Given the description of an element on the screen output the (x, y) to click on. 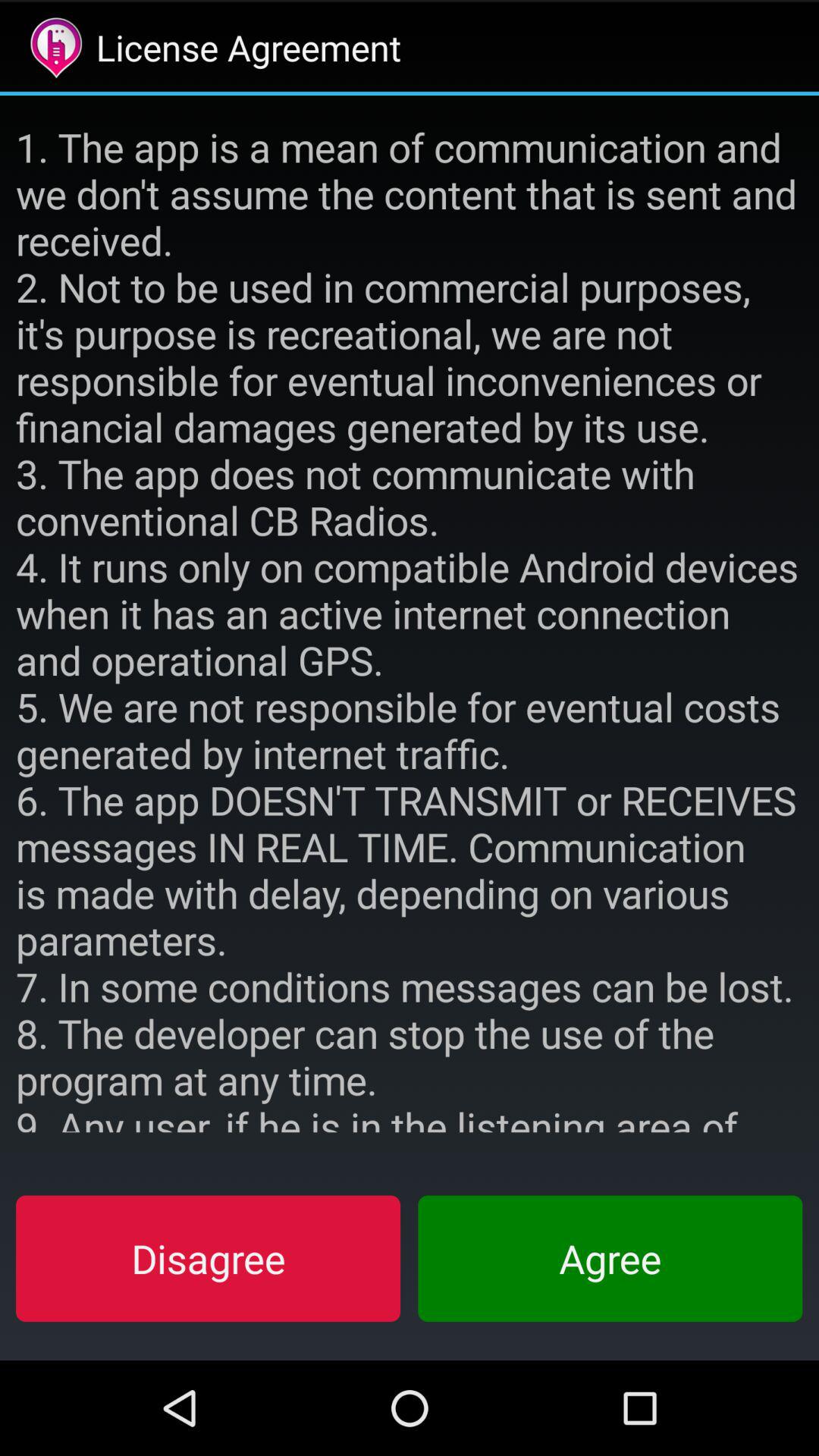
select the icon to the right of disagree button (610, 1258)
